Given the description of an element on the screen output the (x, y) to click on. 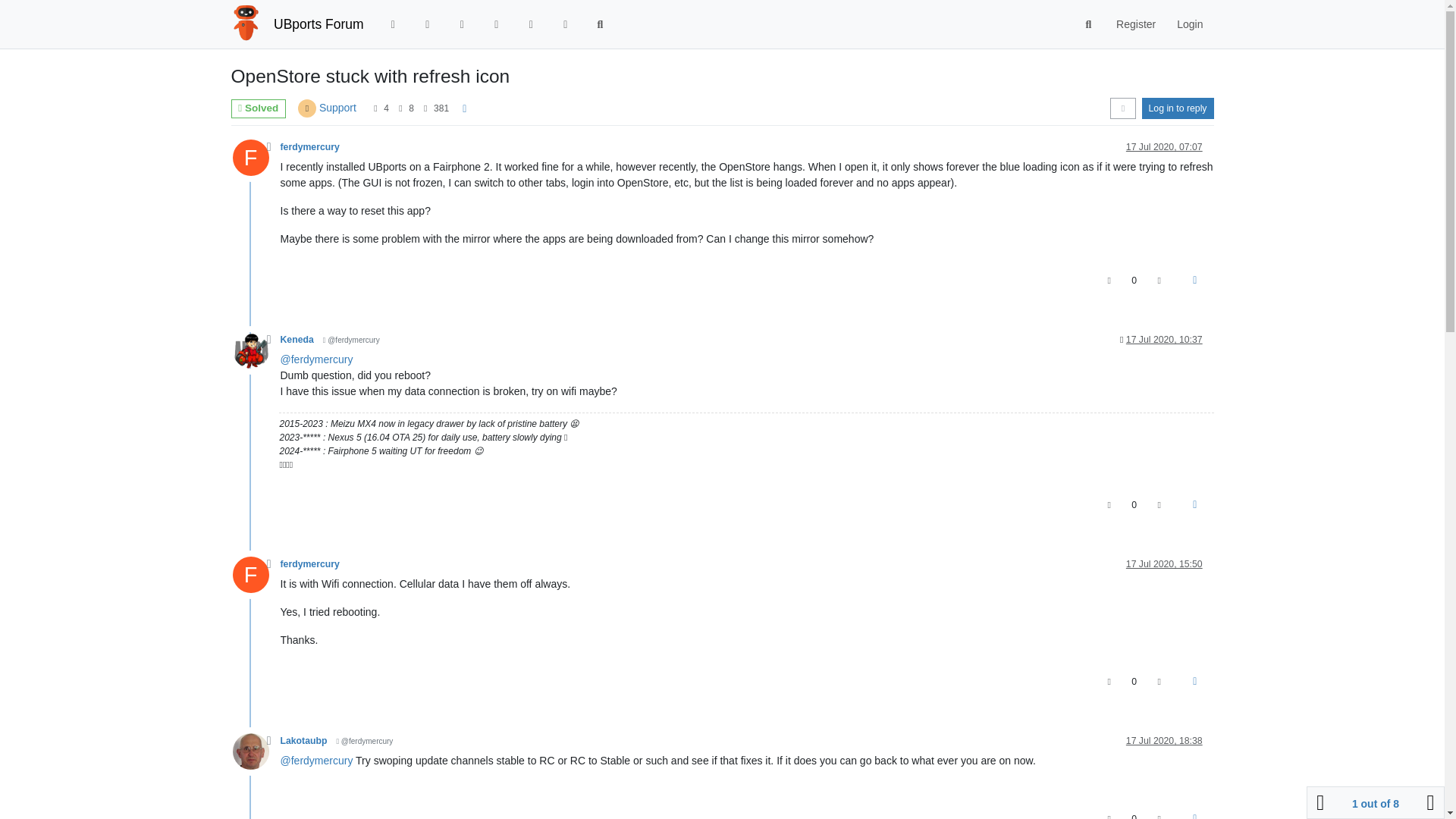
Posters (375, 108)
Support (337, 107)
Popular (496, 24)
Search (1088, 24)
Categories (392, 24)
UBports Forum (318, 24)
F (255, 161)
Search (600, 24)
Login (1189, 24)
Tags (462, 24)
Users (530, 24)
Register (1135, 24)
Log in to reply (1177, 107)
Recent (427, 24)
Groups (565, 24)
